Given the description of an element on the screen output the (x, y) to click on. 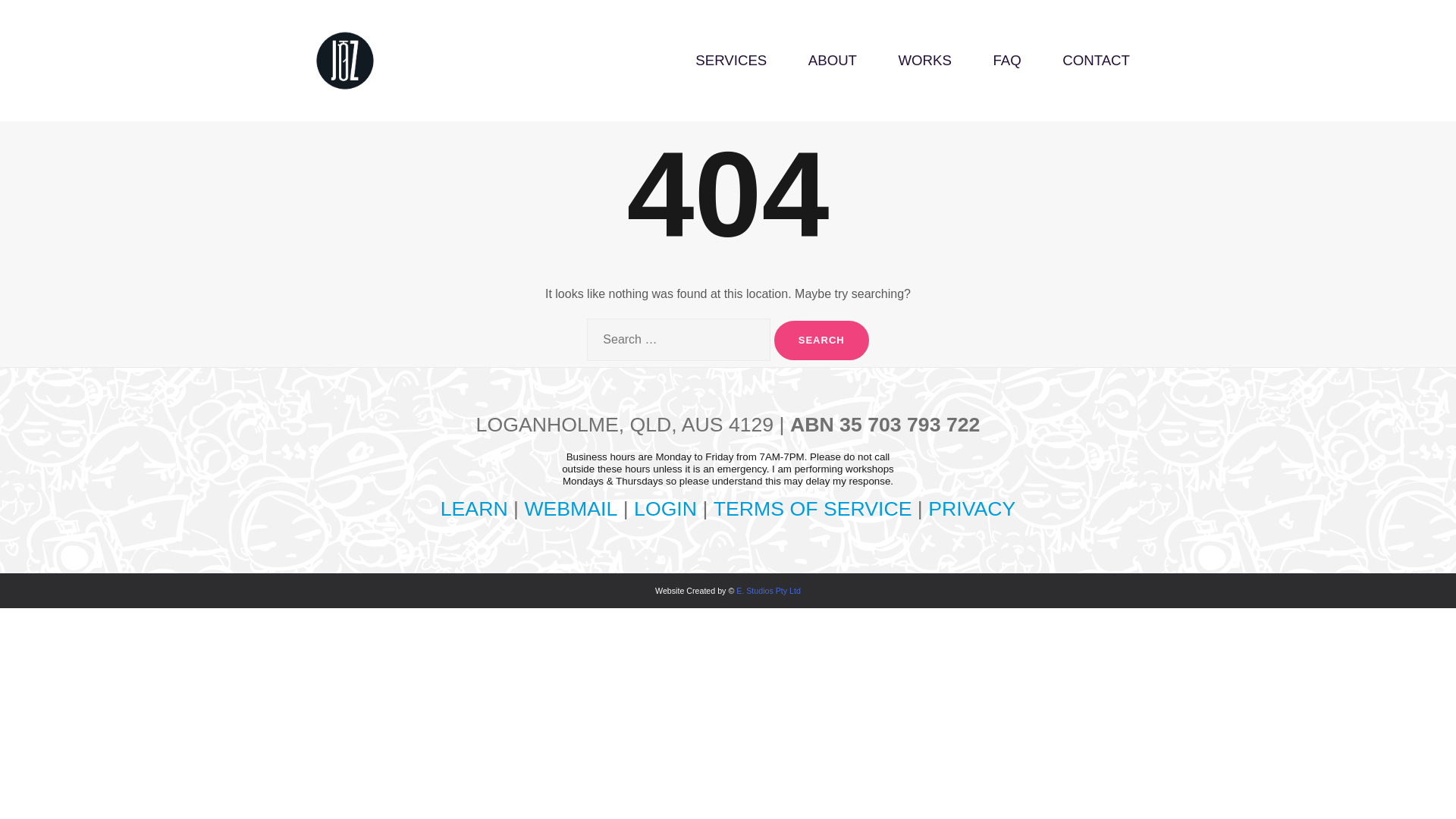
Search (821, 340)
ABOUT (832, 60)
TERMS OF SERVICE (812, 508)
Search (821, 340)
WORKS (924, 60)
E. Studios Pty Ltd (768, 590)
SERVICES (731, 60)
Search (821, 340)
CONTACT (1095, 60)
WEBMAIL (570, 508)
LOGIN (665, 508)
FAQ (1006, 60)
PRIVACY (971, 508)
LEARN (474, 508)
